Given the description of an element on the screen output the (x, y) to click on. 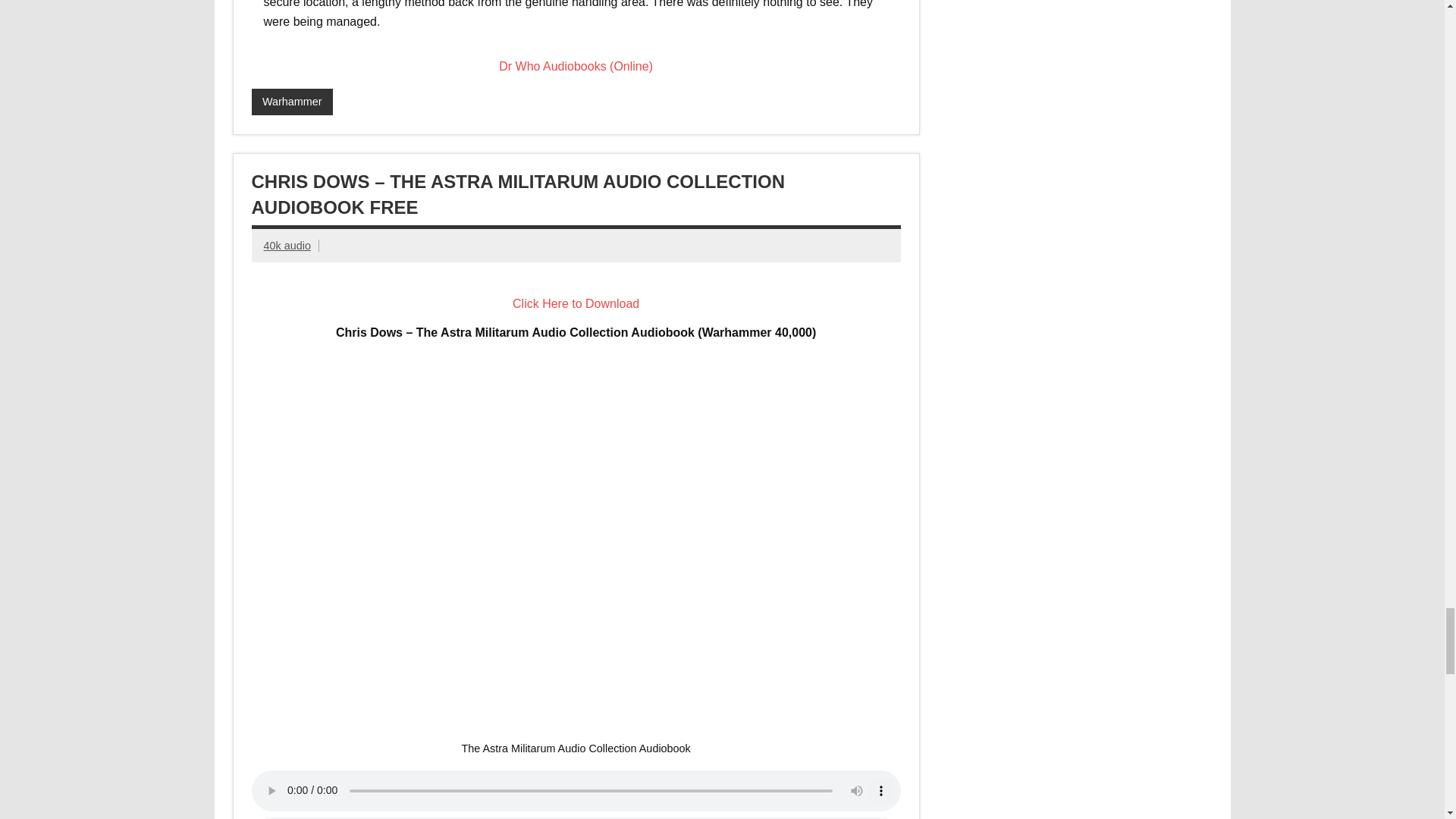
Warhammer (292, 102)
Click Here to Download (575, 303)
40k audio (287, 245)
View all posts by 40k audio (287, 245)
